Given the description of an element on the screen output the (x, y) to click on. 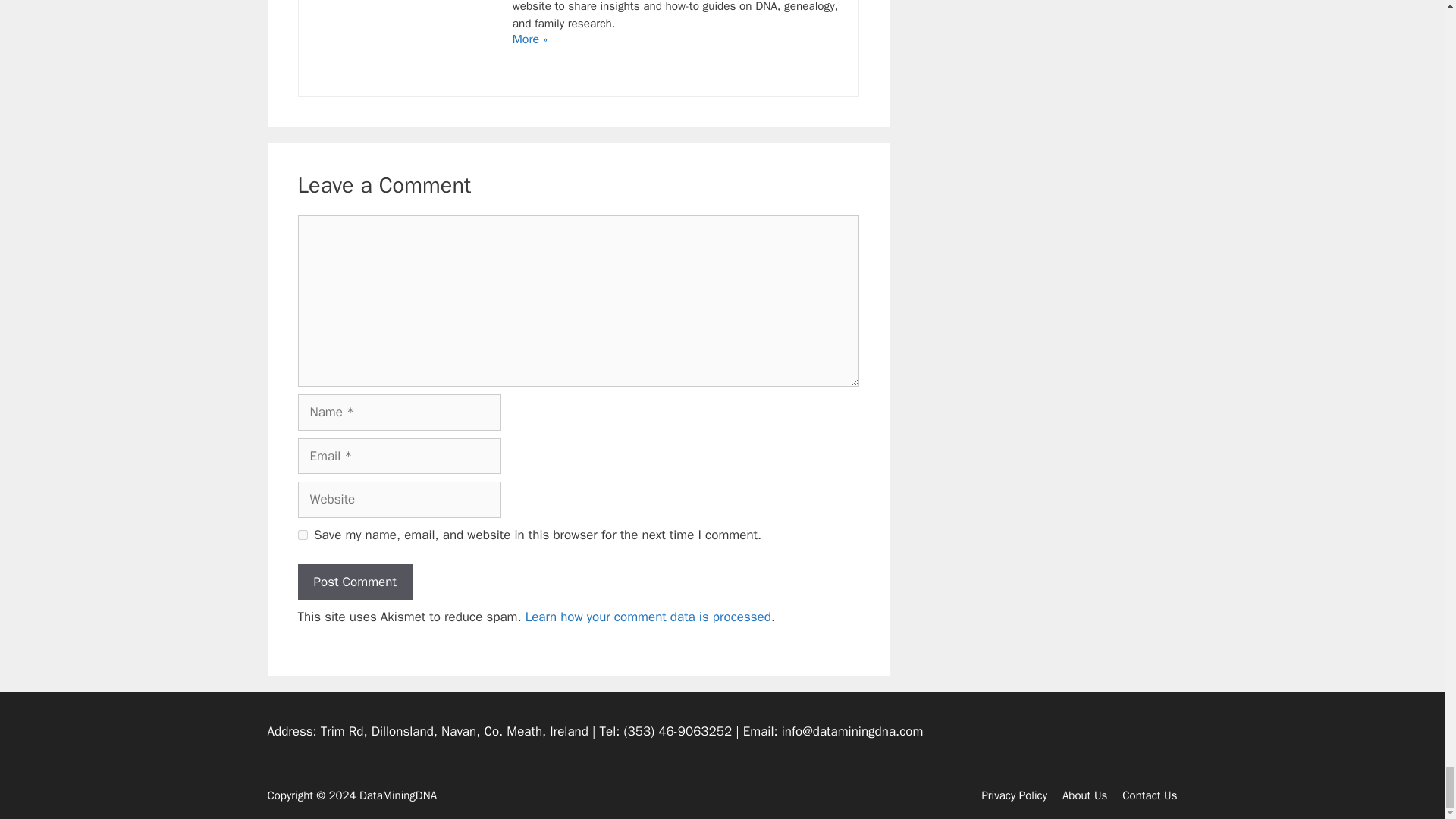
yes (302, 534)
Post Comment (354, 582)
